Given the description of an element on the screen output the (x, y) to click on. 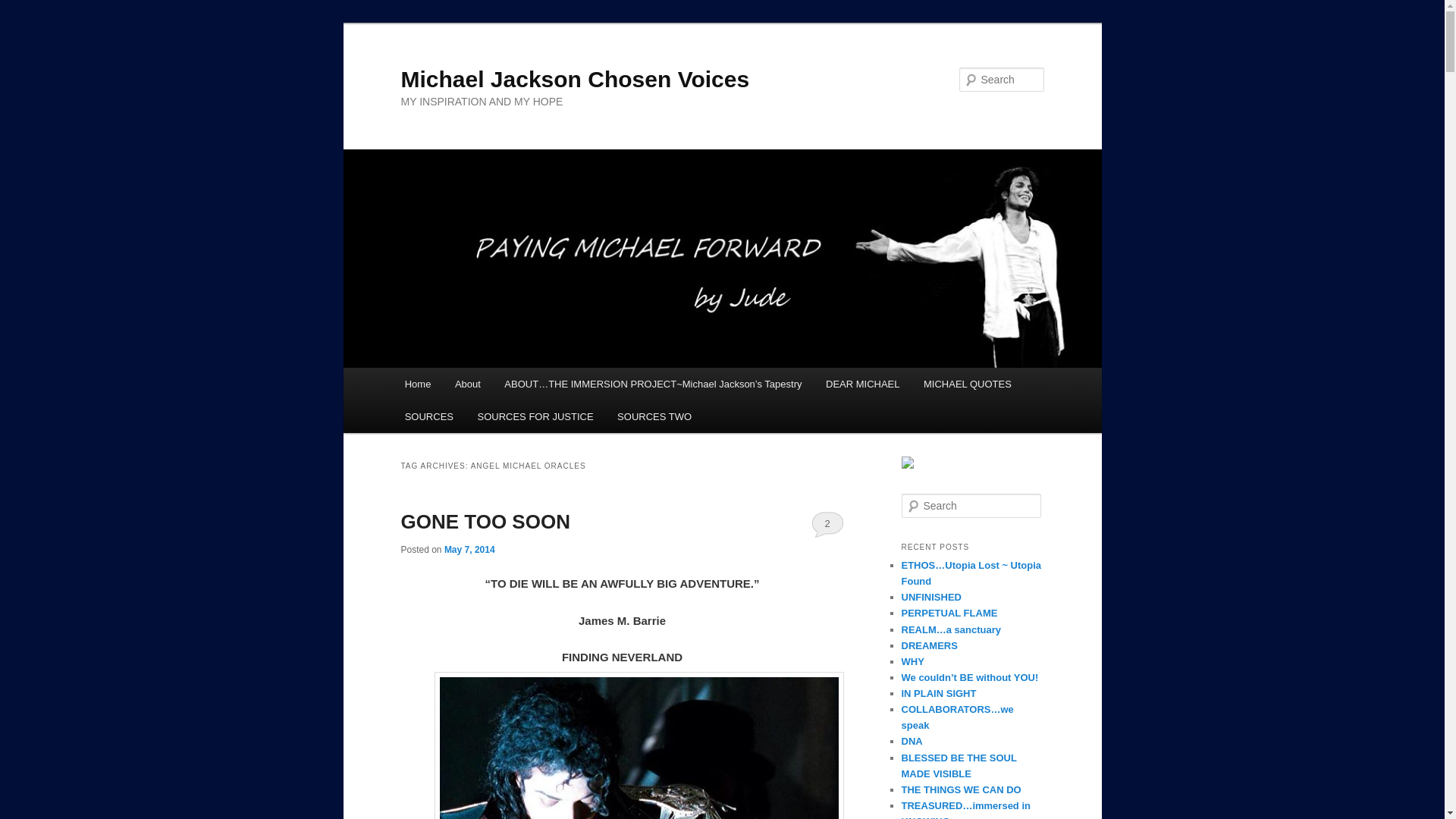
Home (417, 383)
SOURCES (429, 416)
2 (827, 523)
Skip to secondary content (479, 386)
9:27 pm (469, 549)
SOURCES TWO (654, 416)
Michael Jackson Chosen Voices (574, 78)
SOURCES FOR JUSTICE (535, 416)
DEAR MICHAEL (862, 383)
Skip to secondary content (479, 386)
